Given the description of an element on the screen output the (x, y) to click on. 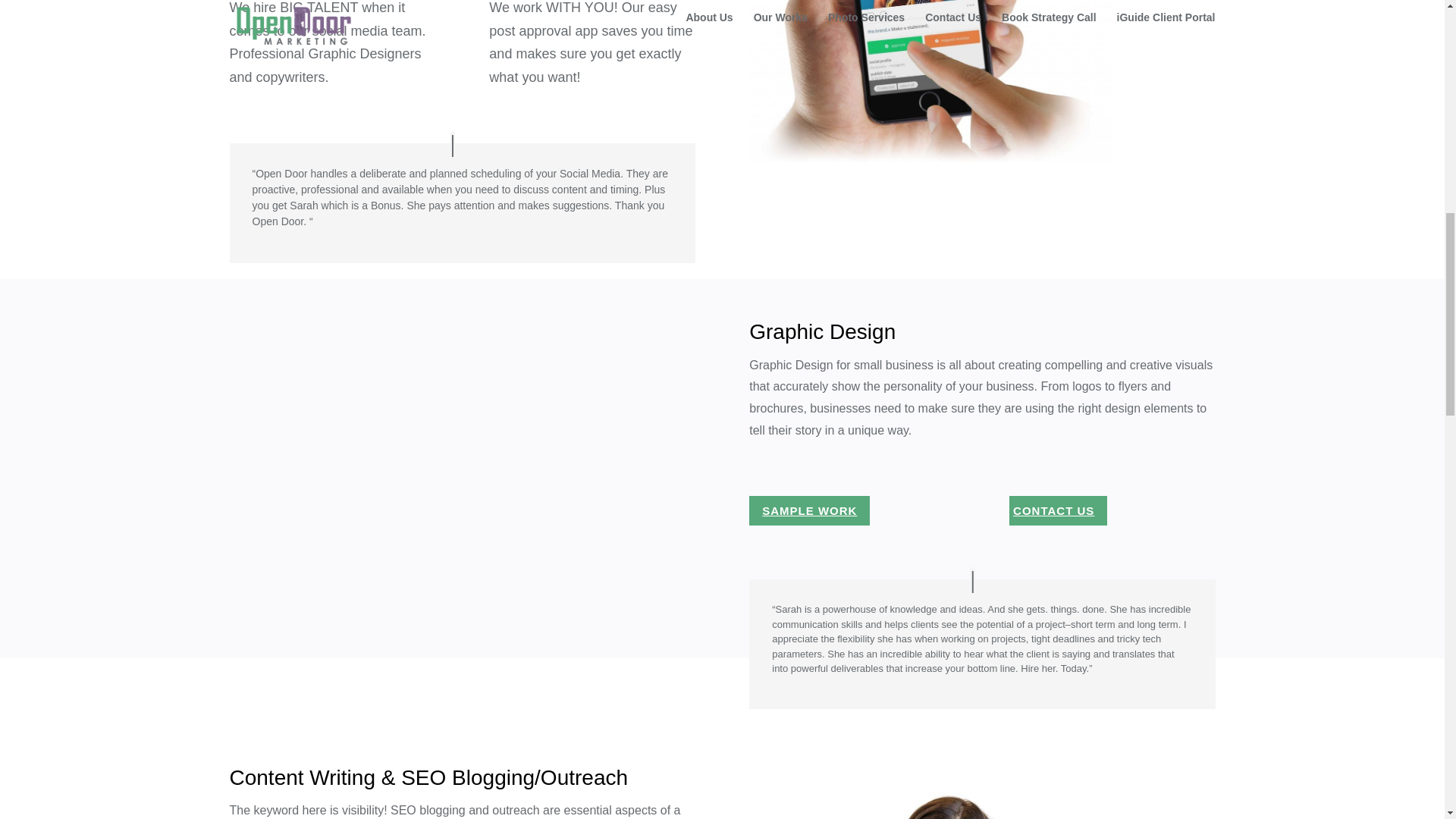
Social Media Management Calgary (930, 80)
CONTACT US (1057, 510)
SAMPLE WORK (809, 510)
